Given the description of an element on the screen output the (x, y) to click on. 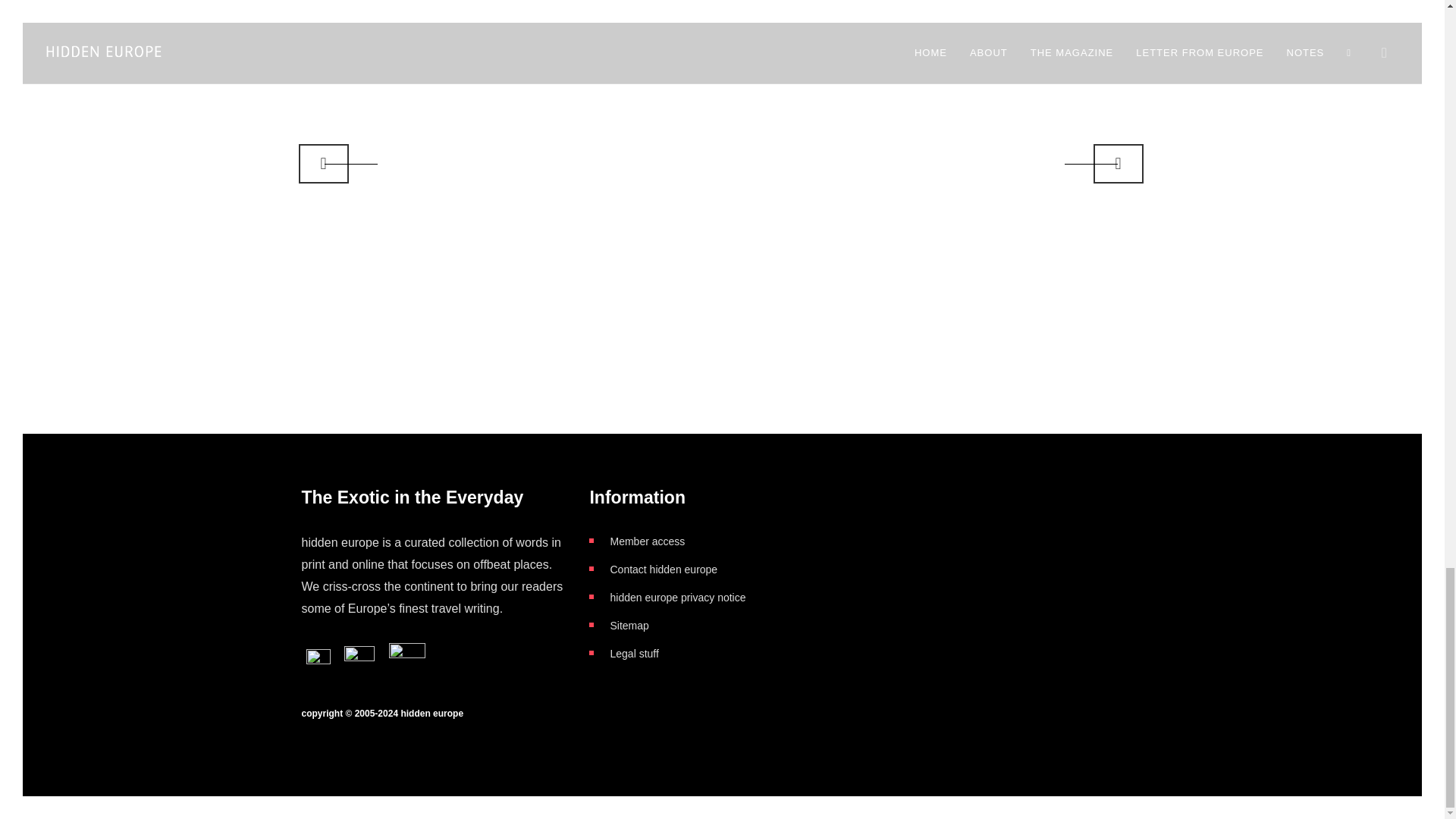
Member access (647, 541)
Contact hidden europe (663, 569)
hidden europe privacy notice (677, 597)
